Given the description of an element on the screen output the (x, y) to click on. 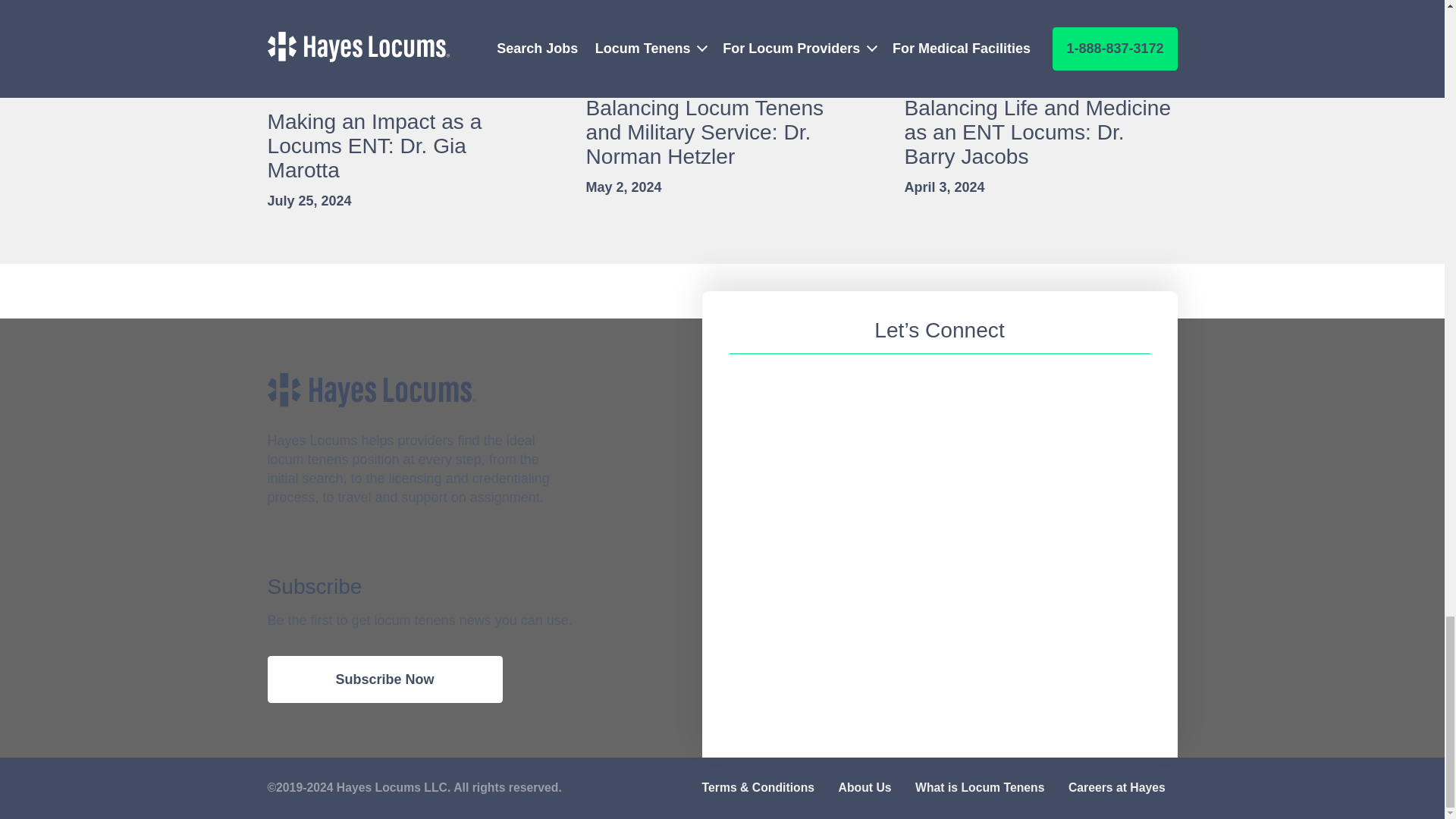
Subscribe Now (384, 679)
